Given the description of an element on the screen output the (x, y) to click on. 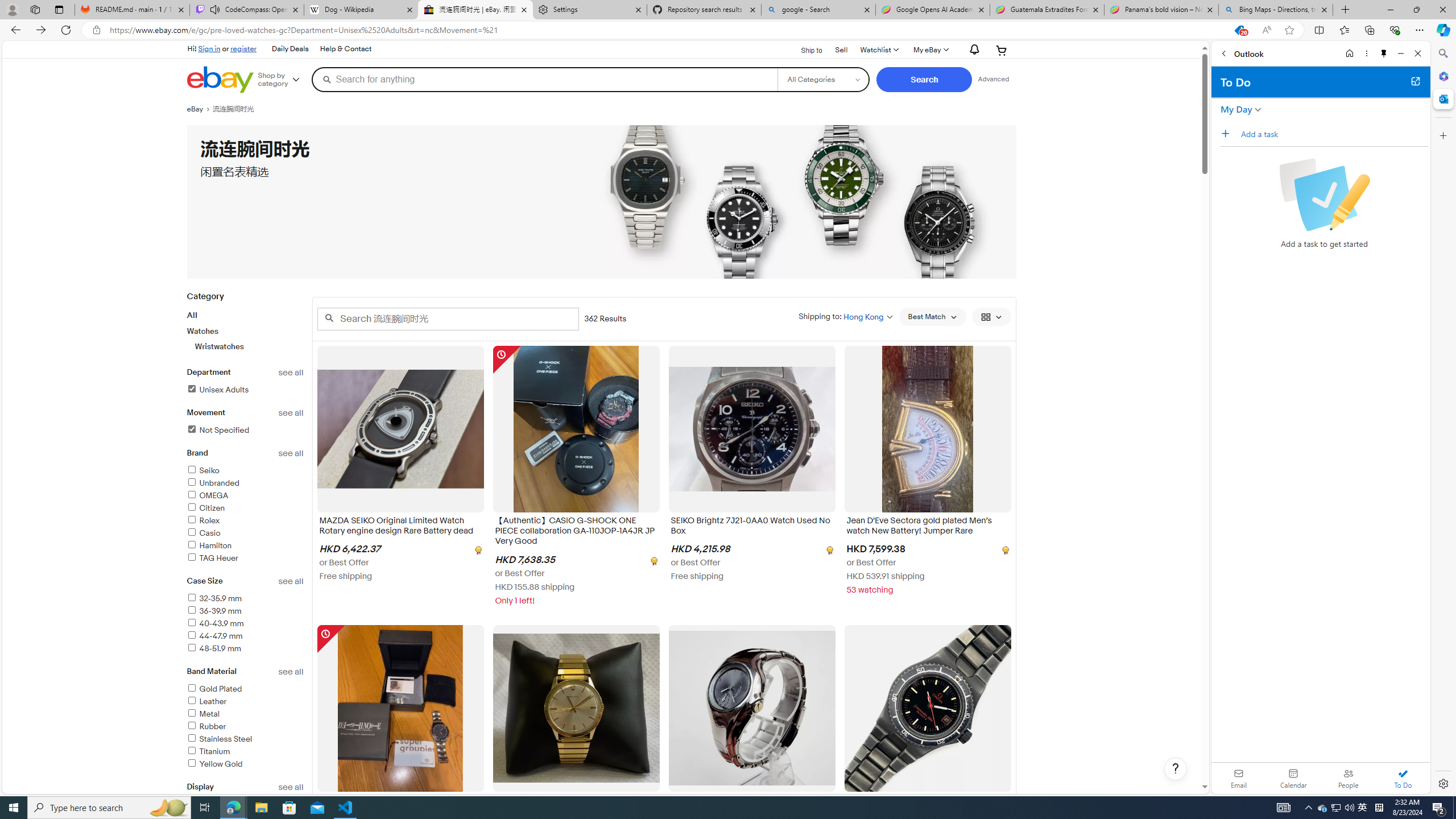
eBay (199, 108)
Not Specified Filter Applied (217, 429)
Citizen (205, 507)
See all brand refinements (291, 452)
TAG Heuer (212, 558)
